Given the description of an element on the screen output the (x, y) to click on. 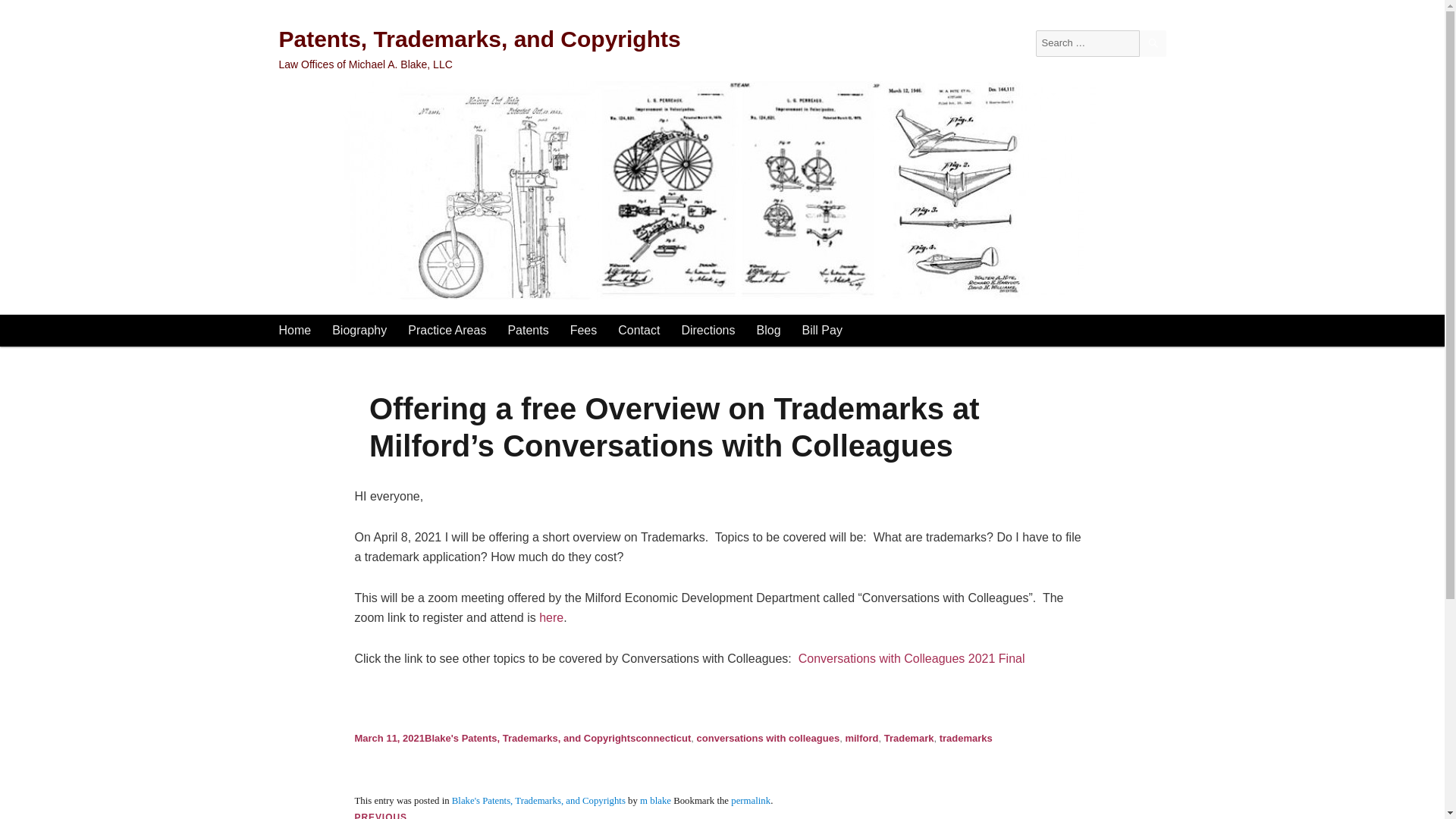
m blake (655, 800)
trademarks (965, 737)
Blake's Patents, Trademarks, and Copyrights (538, 800)
Blog (768, 330)
Conversations with Colleagues 2021 Final (911, 658)
SEARCH (1152, 43)
permalink (750, 800)
Directions (707, 330)
Trademark (908, 737)
Home (294, 330)
Practice Areas (446, 330)
connecticut (662, 737)
Fees (583, 330)
Biography (359, 330)
Contact (638, 330)
